Given the description of an element on the screen output the (x, y) to click on. 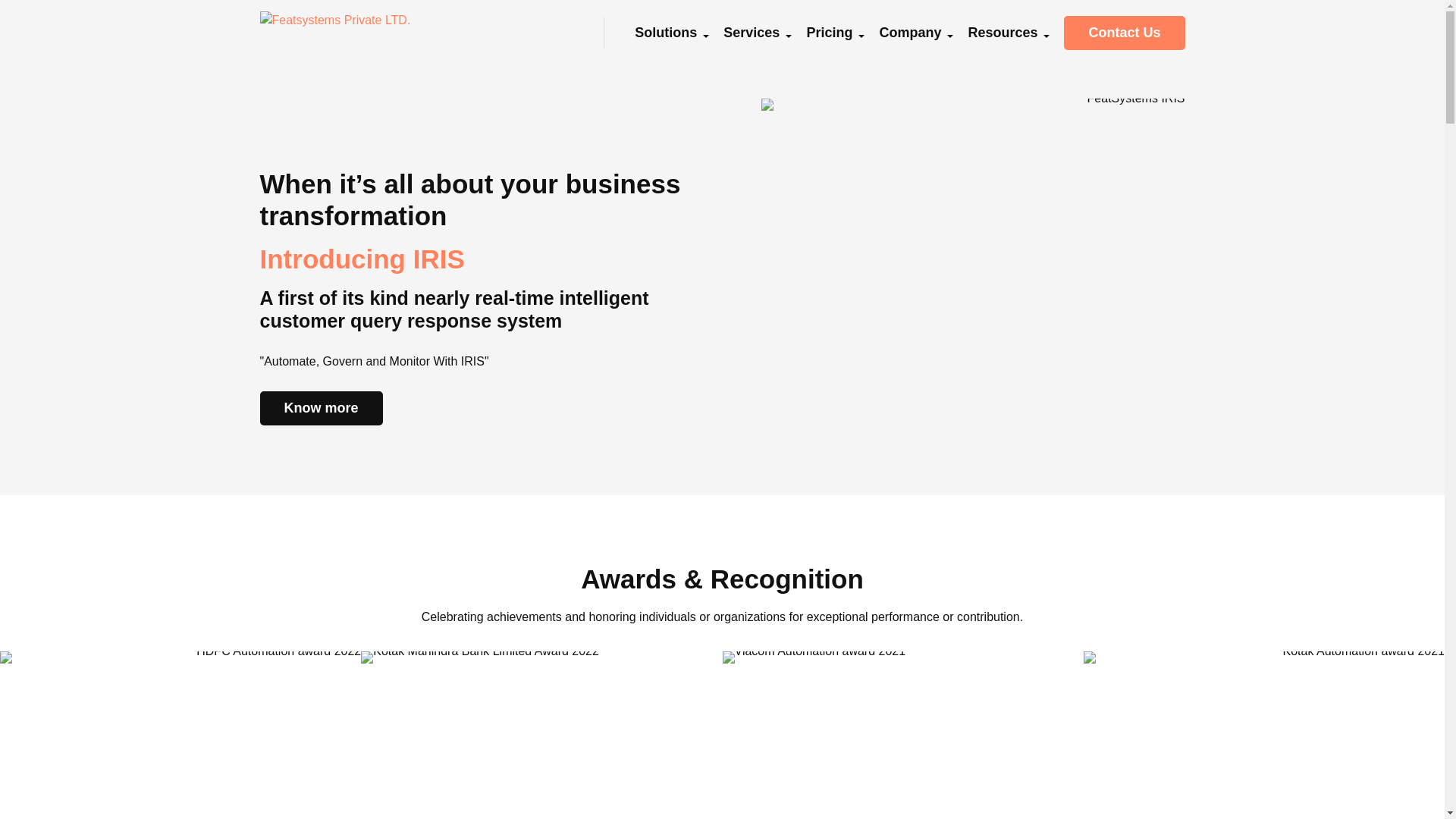
Company (909, 32)
Contact Us (1124, 32)
Know more (320, 408)
Solutions (665, 32)
Resources (1002, 32)
Pricing (828, 32)
Services (750, 32)
